Given the description of an element on the screen output the (x, y) to click on. 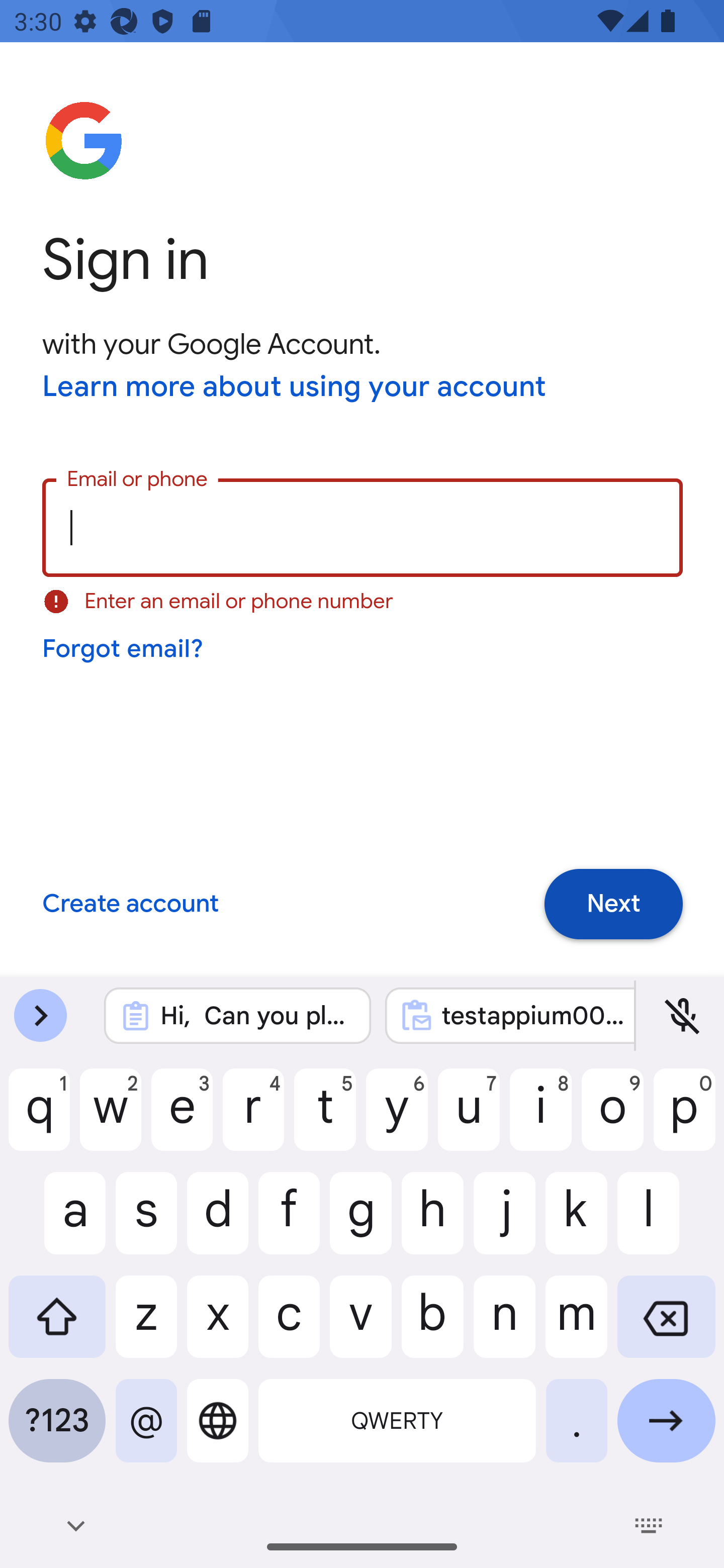
Learn more about using your account (294, 388)
Forgot email? (123, 648)
Create account (129, 904)
Next (613, 904)
